Given the description of an element on the screen output the (x, y) to click on. 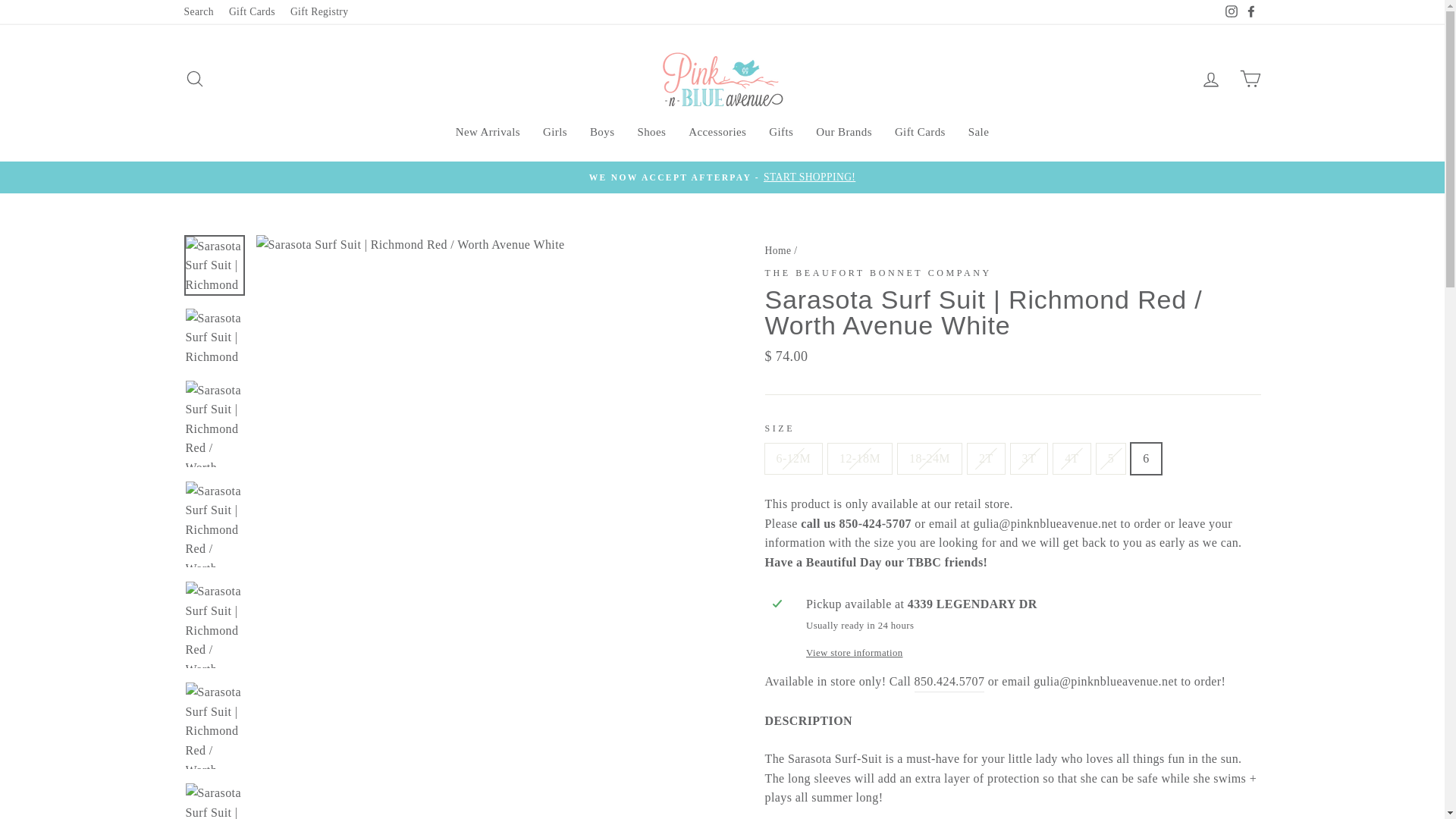
Back to the frontpage (777, 249)
